Given the description of an element on the screen output the (x, y) to click on. 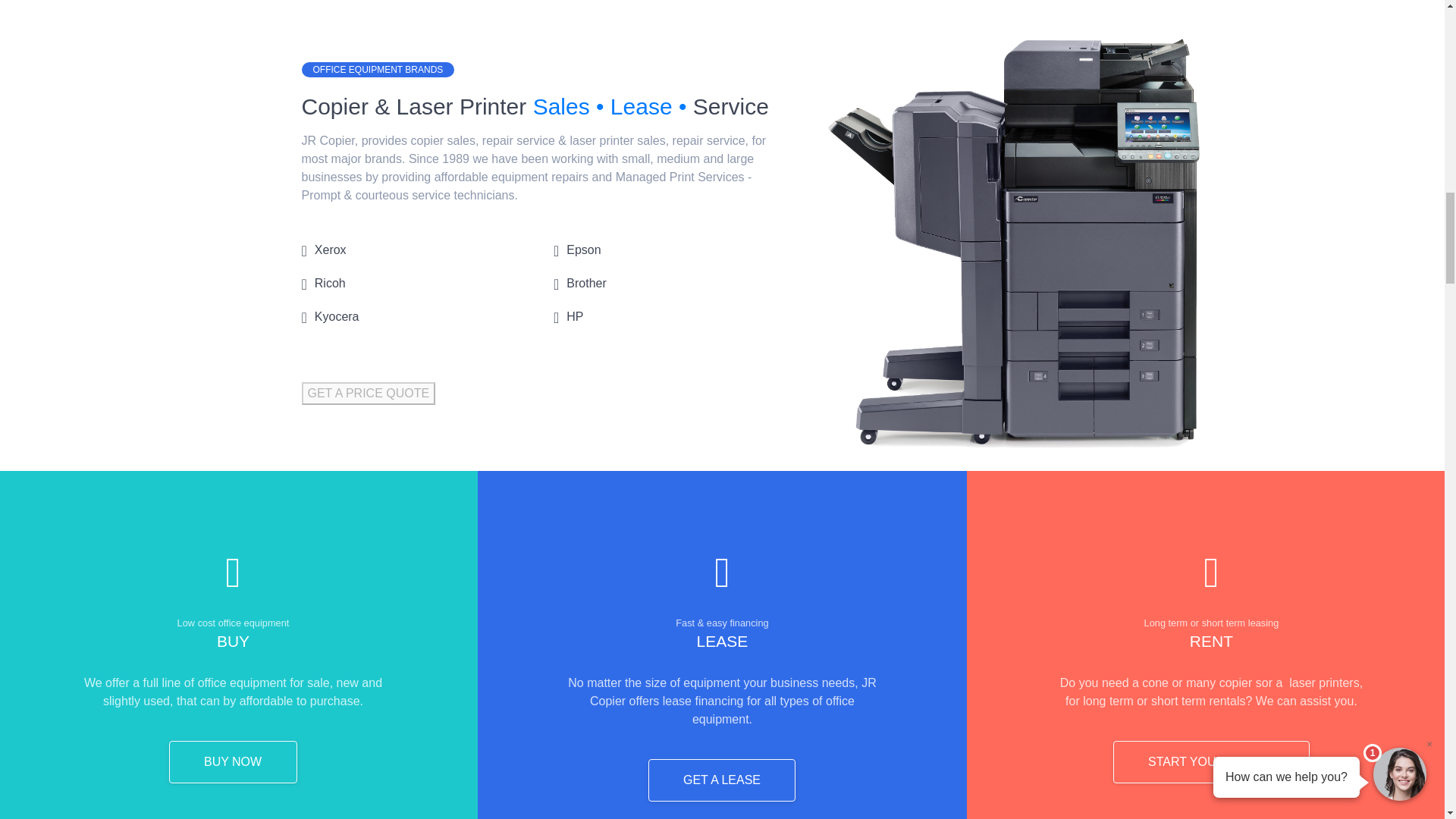
GET A PRICE QUOTE (368, 393)
GET A LEASE (720, 780)
START YOUR RENTAL (1210, 761)
BUY NOW (232, 761)
